Given the description of an element on the screen output the (x, y) to click on. 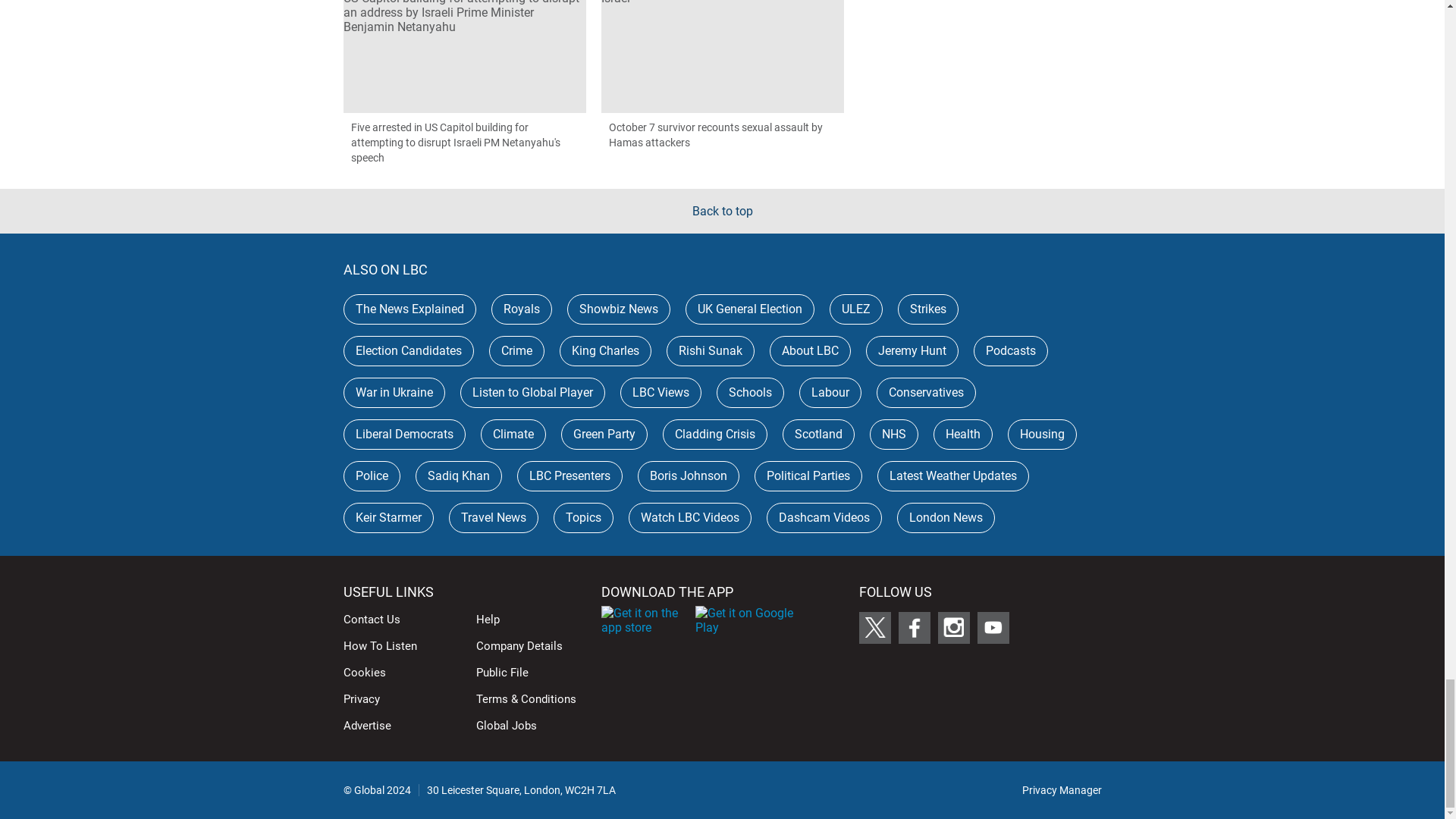
Follow LBC on X (874, 627)
Follow LBC on Youtube (992, 627)
Back to top (721, 210)
Follow LBC on Instagram (953, 627)
Follow LBC on Facebook (914, 627)
